Given the description of an element on the screen output the (x, y) to click on. 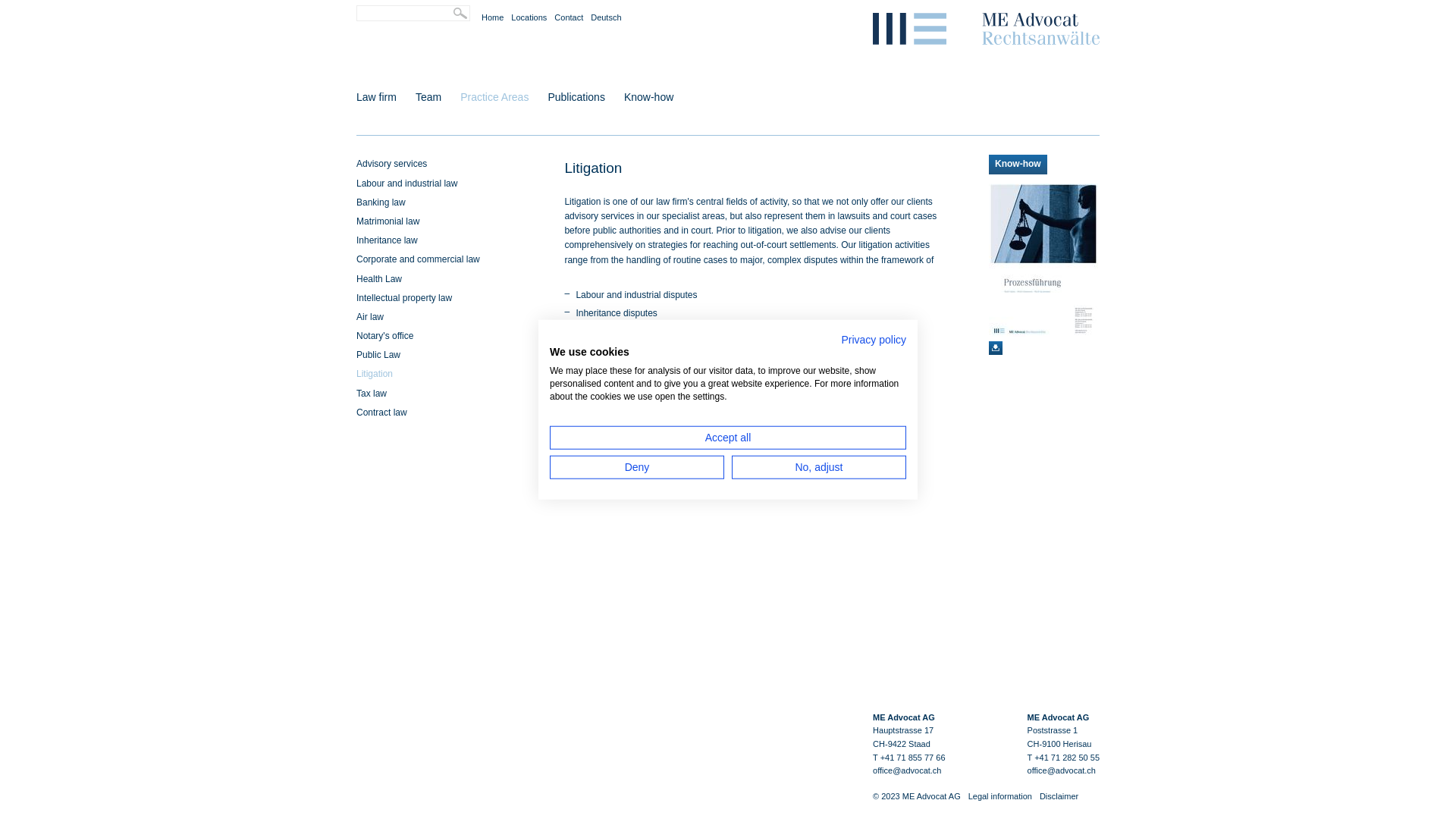
Publications Element type: text (576, 97)
Notary's office Element type: text (384, 335)
Matrimonial law Element type: text (387, 221)
Deny Element type: text (636, 466)
Deutsch Element type: text (605, 16)
office@advocat.ch  Element type: text (907, 770)
Privacy policy Element type: text (873, 339)
Accept all Element type: text (727, 436)
Advisory services Element type: text (391, 163)
Law firm Element type: text (376, 97)
Contact Element type: text (568, 16)
Legal information Element type: text (1000, 795)
Air law Element type: text (369, 316)
Practice Areas Element type: text (494, 97)
No, adjust Element type: text (818, 466)
Tax law Element type: text (371, 393)
office@advocat.ch  Element type: text (1062, 770)
Health Law Element type: text (378, 278)
Litigation Element type: text (374, 373)
Banking law Element type: text (380, 202)
Know-how Element type: text (1017, 163)
Home Element type: text (492, 16)
Intellectual property law Element type: text (403, 297)
Inheritance law Element type: text (386, 240)
Corporate and commercial law Element type: text (418, 259)
Know-how Element type: text (648, 97)
Labour and industrial law Element type: text (406, 183)
Locations Element type: text (528, 16)
Disclaimer Element type: text (1058, 795)
Team Element type: text (428, 97)
Public Law Element type: text (378, 354)
Contract law Element type: text (381, 412)
Download:  Element type: hover (995, 347)
Download:  Element type: hover (1043, 259)
